Given the description of an element on the screen output the (x, y) to click on. 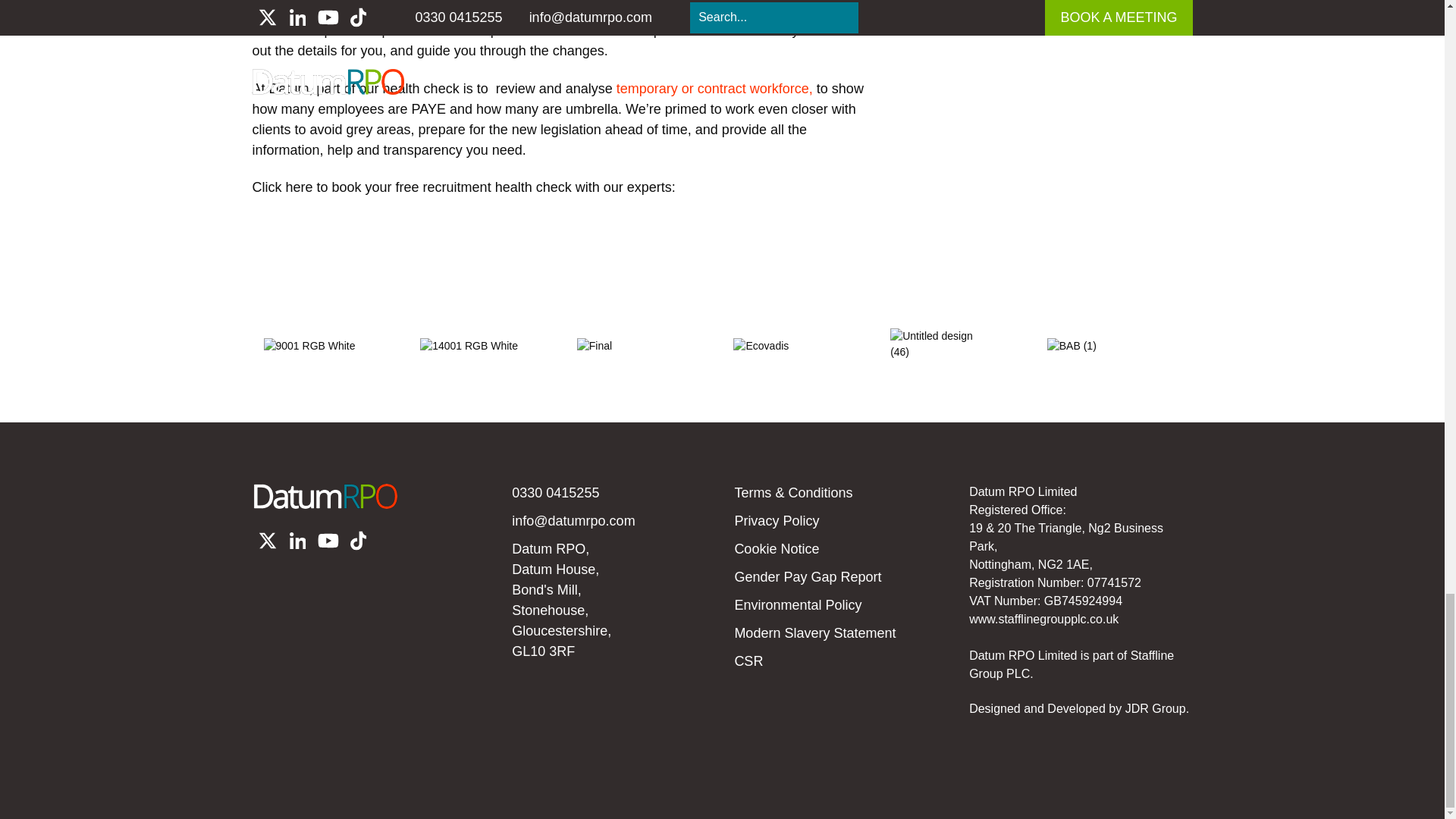
DatumRPO-logo (324, 495)
